Given the description of an element on the screen output the (x, y) to click on. 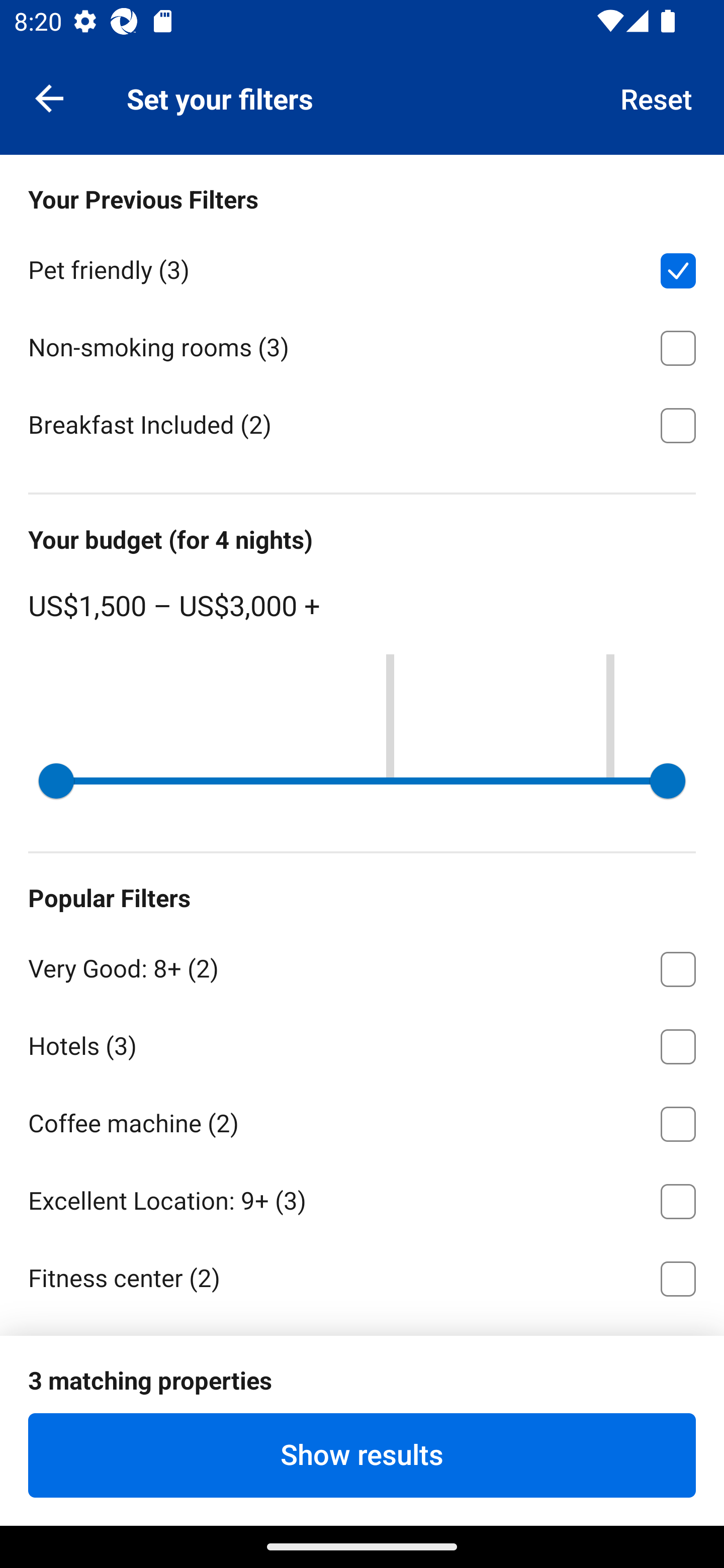
Navigate up (49, 97)
Reset (656, 97)
Pet friendly ⁦(3) (361, 266)
Non-smoking rooms ⁦(3) (361, 344)
Breakfast Included ⁦(2) (361, 424)
Very Good: 8+ ⁦(2) (361, 965)
Hotels ⁦(3) (361, 1043)
Coffee machine ⁦(2) (361, 1119)
Excellent Location: 9+ ⁦(3) (361, 1197)
Fitness center ⁦(2) (361, 1279)
Show results (361, 1454)
